Given the description of an element on the screen output the (x, y) to click on. 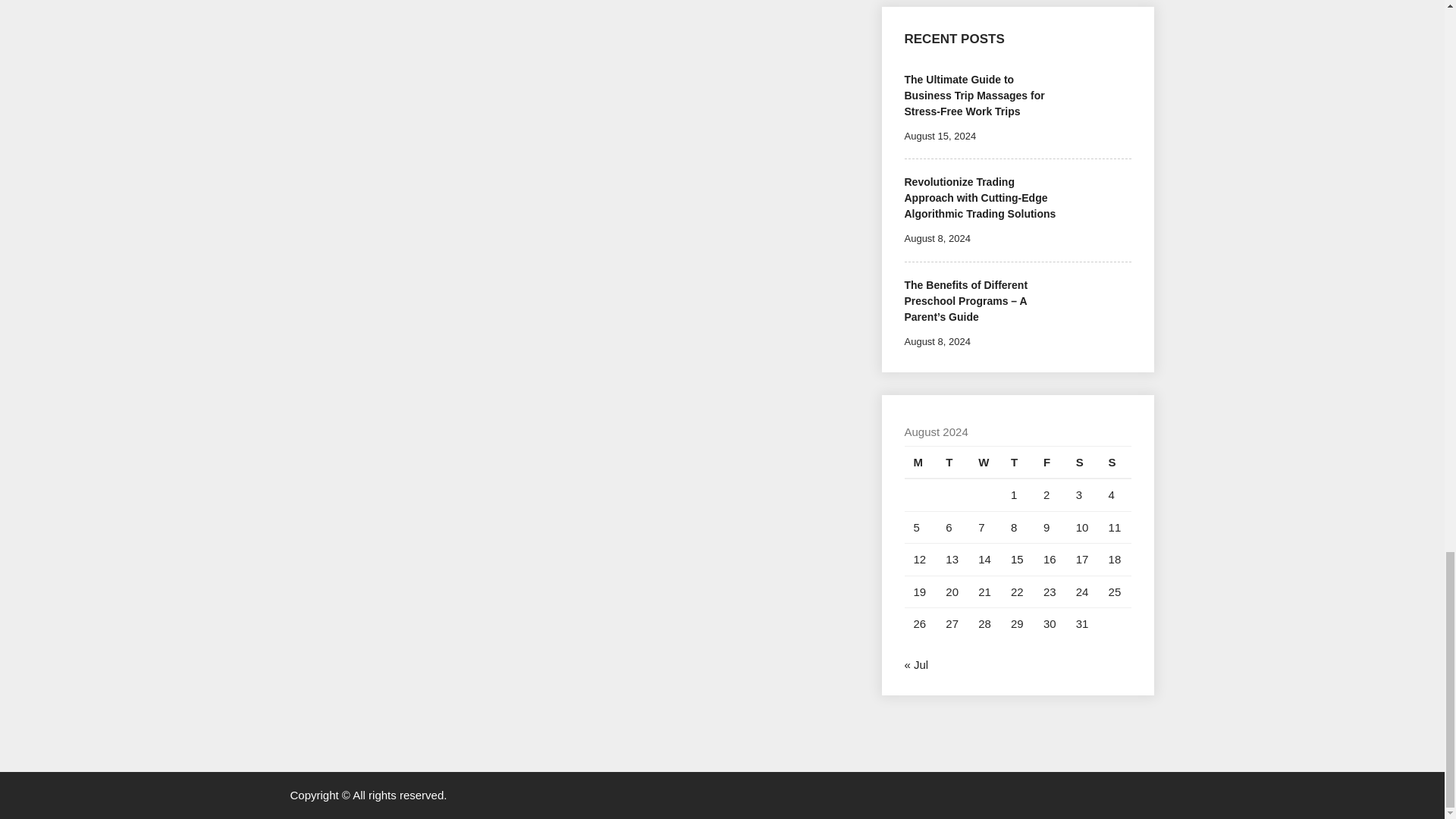
Thursday (1017, 461)
Monday (920, 461)
Saturday (1083, 461)
Wednesday (985, 461)
Tuesday (952, 461)
Friday (1050, 461)
Sunday (1115, 461)
